Given the description of an element on the screen output the (x, y) to click on. 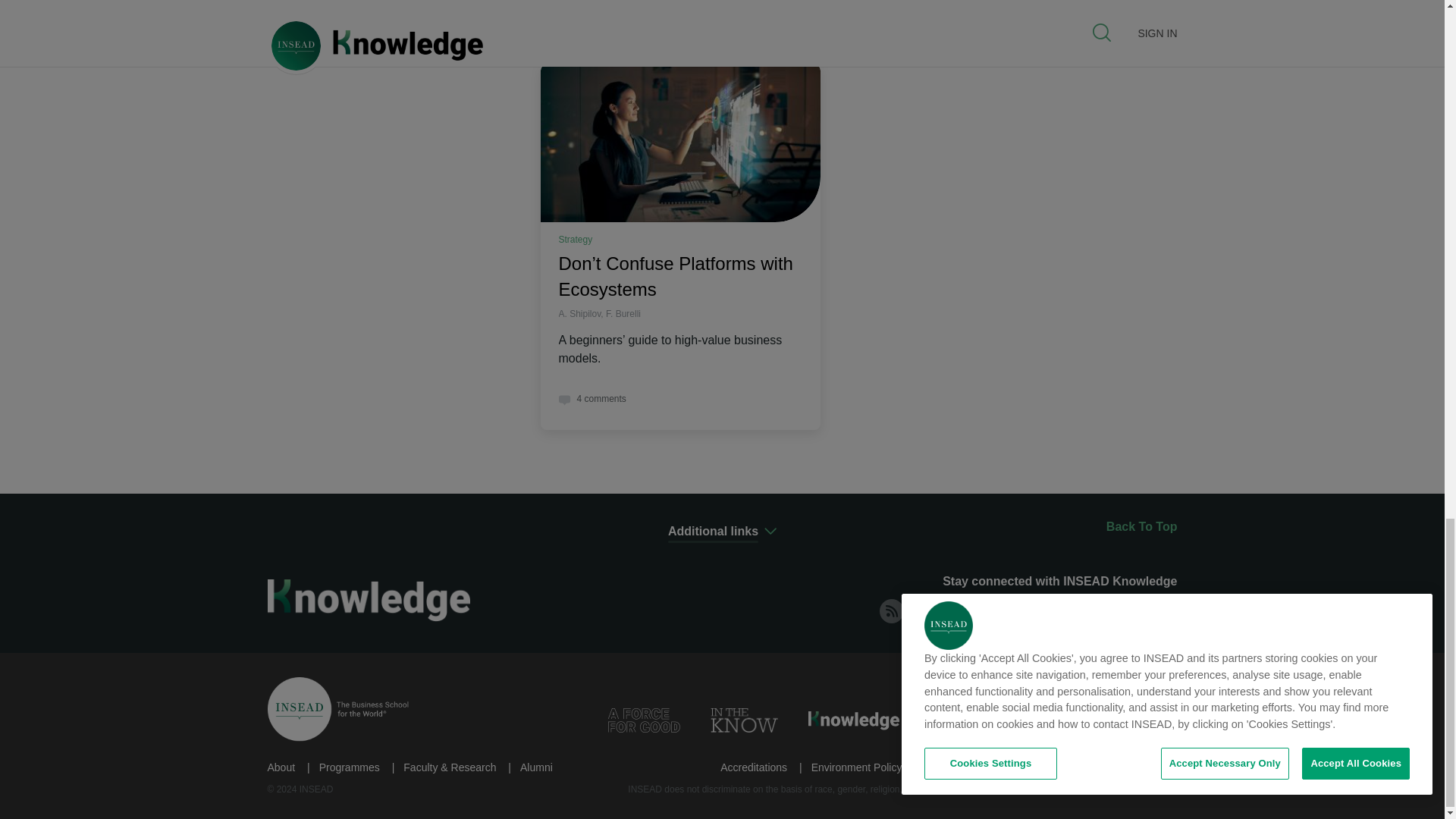
Youtube (1071, 610)
Strategy (574, 239)
Twitter (1025, 610)
Facebook (980, 610)
RSS (891, 610)
LinkedIn (936, 610)
E-Mail (1160, 610)
Podcasts (1115, 610)
